Given the description of an element on the screen output the (x, y) to click on. 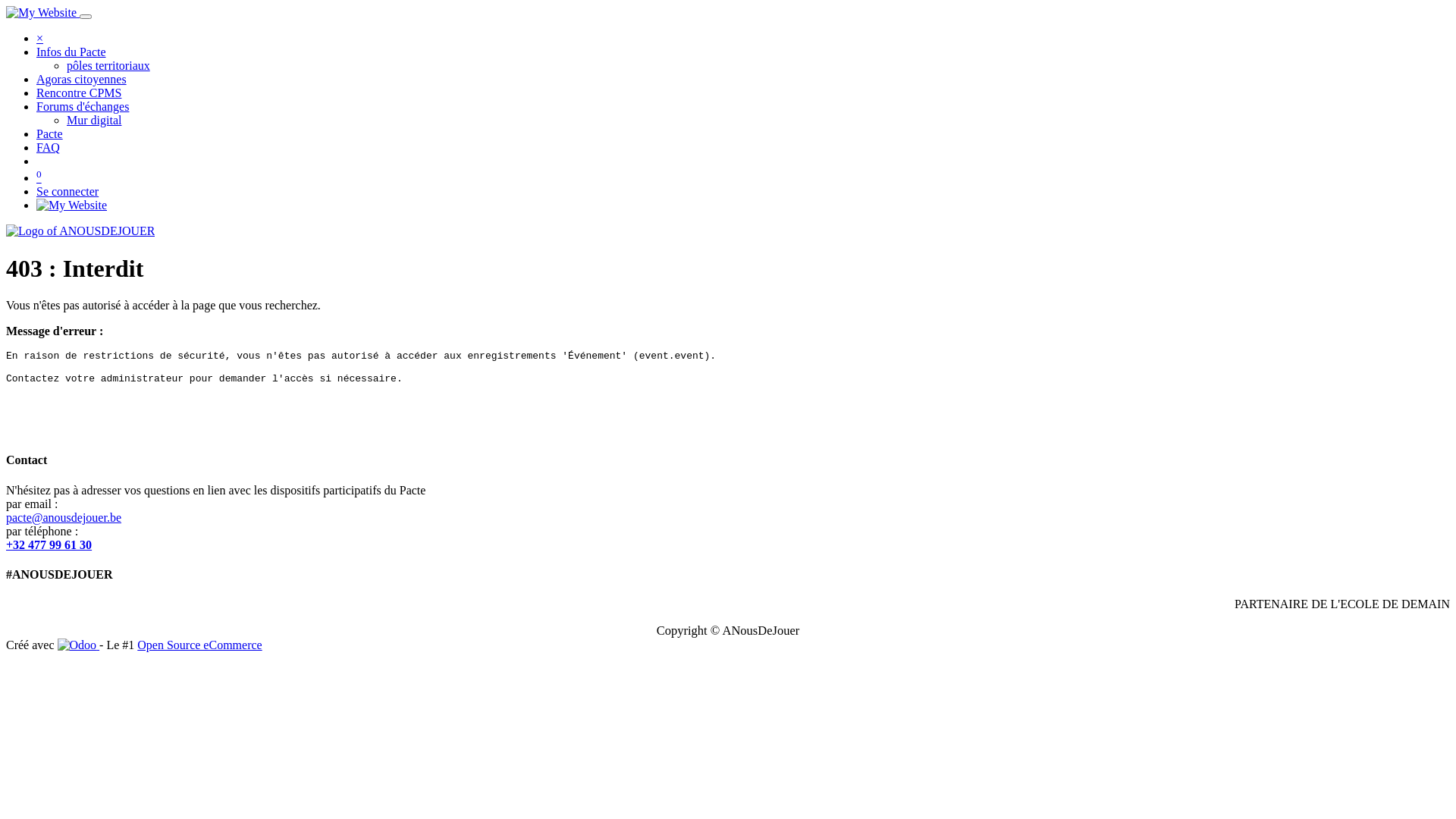
Pacte Element type: text (49, 133)
+32 477 99 61 30 Element type: text (48, 544)
Infos du Pacte Element type: text (71, 51)
FAQ Element type: text (47, 147)
Rencontre CPMS Element type: text (78, 92)
ANOUSDEJOUER Element type: hover (80, 231)
0 Element type: text (38, 177)
My Website Element type: hover (41, 12)
Se connecter Element type: text (67, 191)
My Website Element type: hover (71, 204)
Open Source eCommerce Element type: text (199, 644)
pacte@anousdejouer.be Element type: text (63, 517)
Agoras citoyennes Element type: text (81, 78)
Mur digital Element type: text (93, 119)
